Given the description of an element on the screen output the (x, y) to click on. 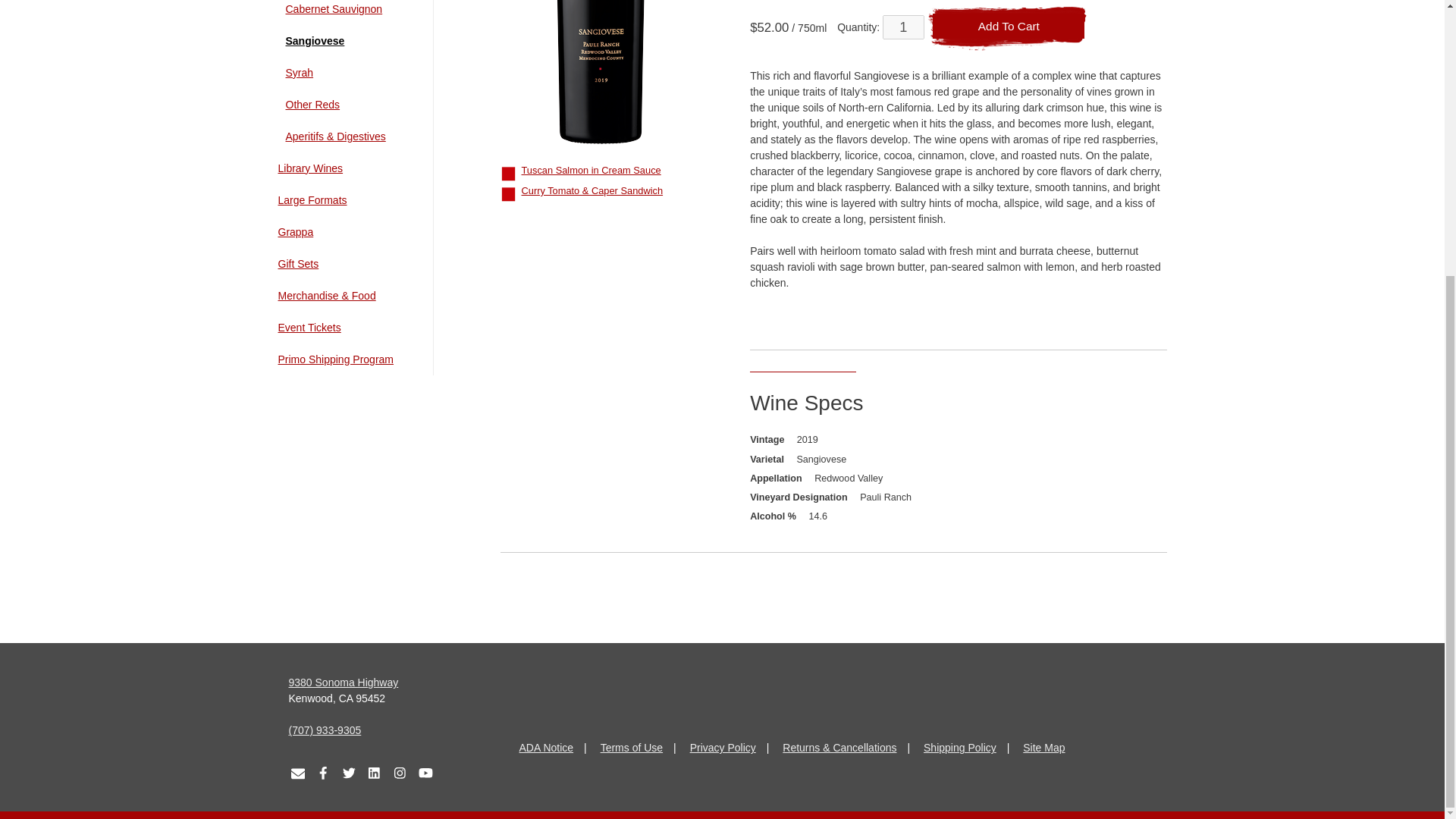
Sangiovese (349, 41)
Library Wines (346, 168)
1 (903, 27)
Grappa (346, 232)
Follow us on YouTube (423, 769)
Gift Sets (346, 263)
Add To Cart (1008, 28)
Follow us on Facebook (323, 769)
Cabernet Sauvignon (349, 9)
Follow us on Instgram (399, 769)
Large Formats (346, 200)
Follow us on Twitter (348, 769)
Other Reds (349, 105)
Syrah (349, 73)
Tuscan Salmon in Cream Sauce (591, 170)
